Given the description of an element on the screen output the (x, y) to click on. 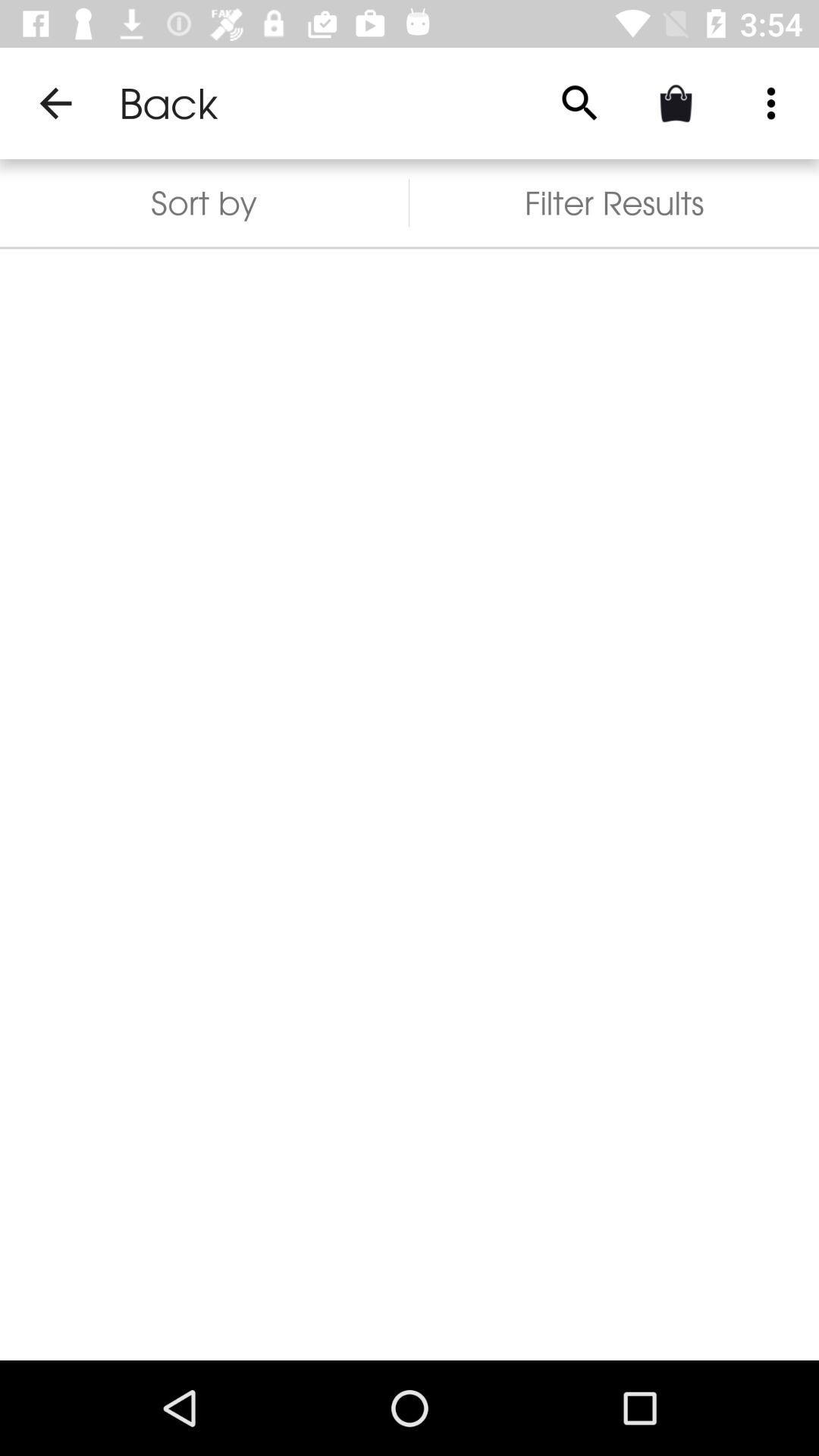
flip until the filter results (614, 202)
